Given the description of an element on the screen output the (x, y) to click on. 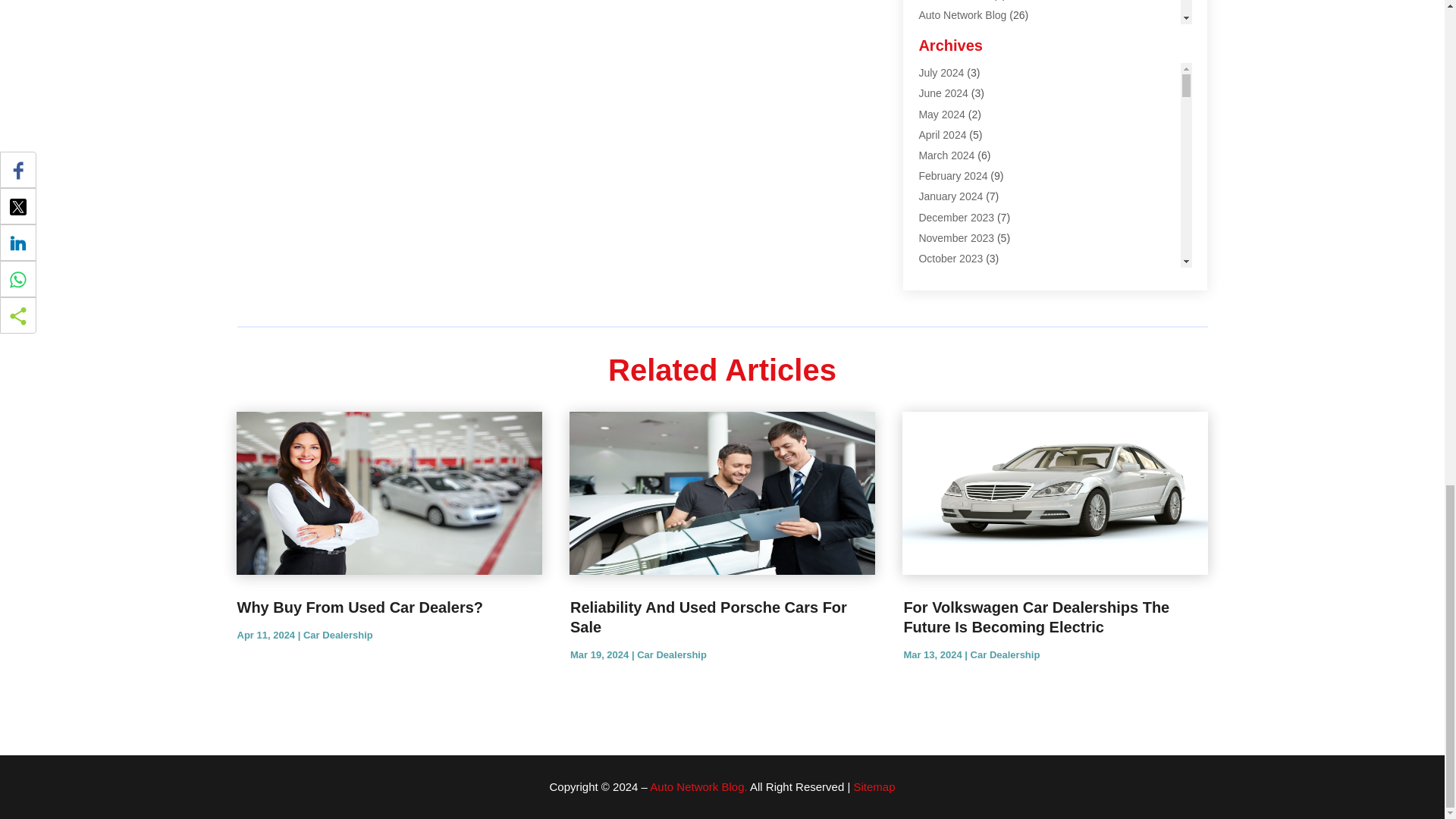
Auto Parts (943, 35)
Auto Network Blog (962, 15)
Auto Insurance (954, 0)
Auto Parts Store (956, 55)
